Given the description of an element on the screen output the (x, y) to click on. 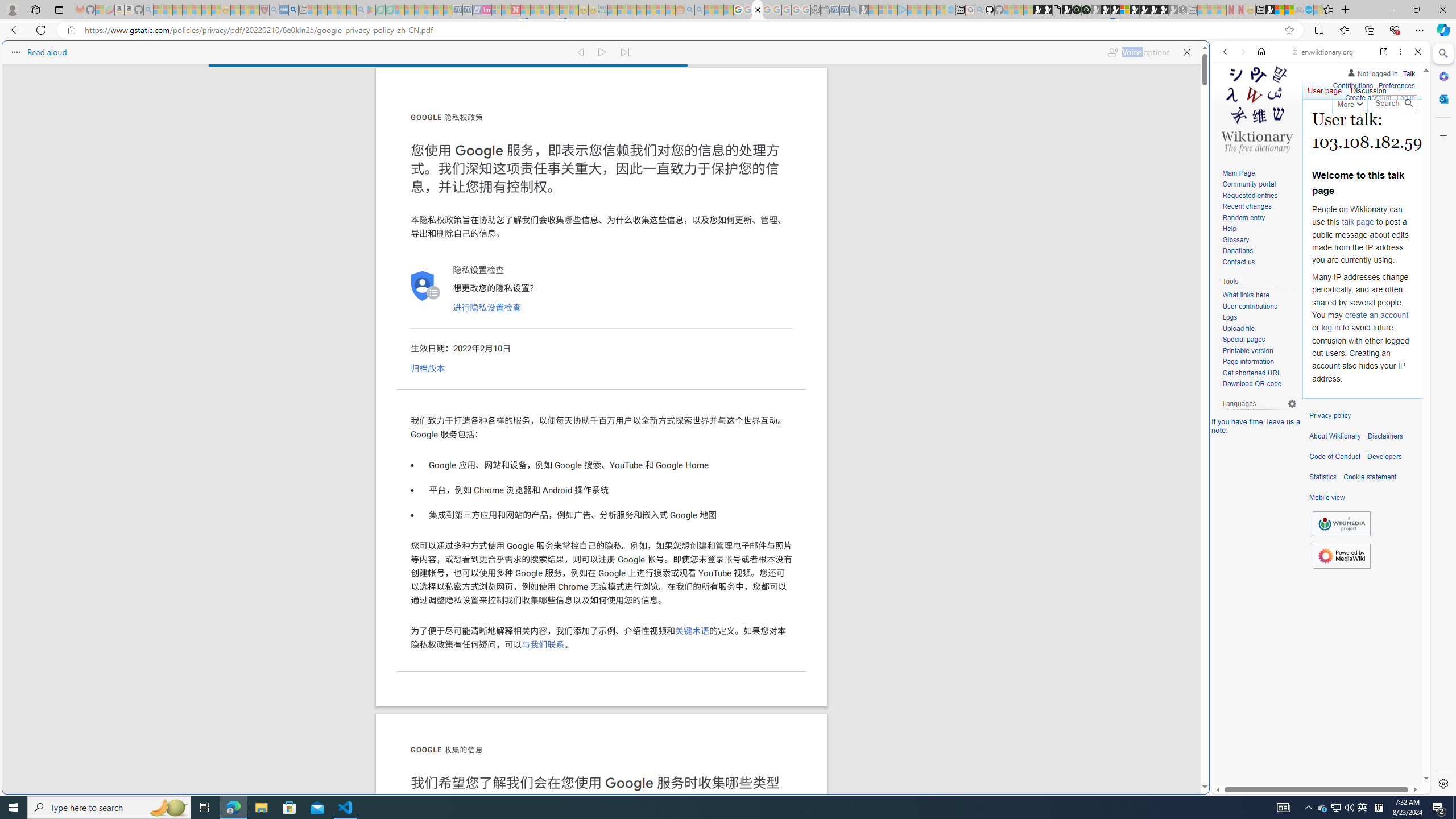
Continue to read aloud (Ctrl+Shift+U) (602, 49)
Utah sues federal government - Search - Sleeping (699, 9)
Cookie statement (1369, 477)
github - Search - Sleeping (979, 9)
Main Page (1259, 173)
Logs (1259, 317)
WEB   (1230, 130)
Preferences (1403, 129)
Jobs - lastminute.com Investor Portal - Sleeping (486, 9)
Privacy policy (1329, 415)
